Given the description of an element on the screen output the (x, y) to click on. 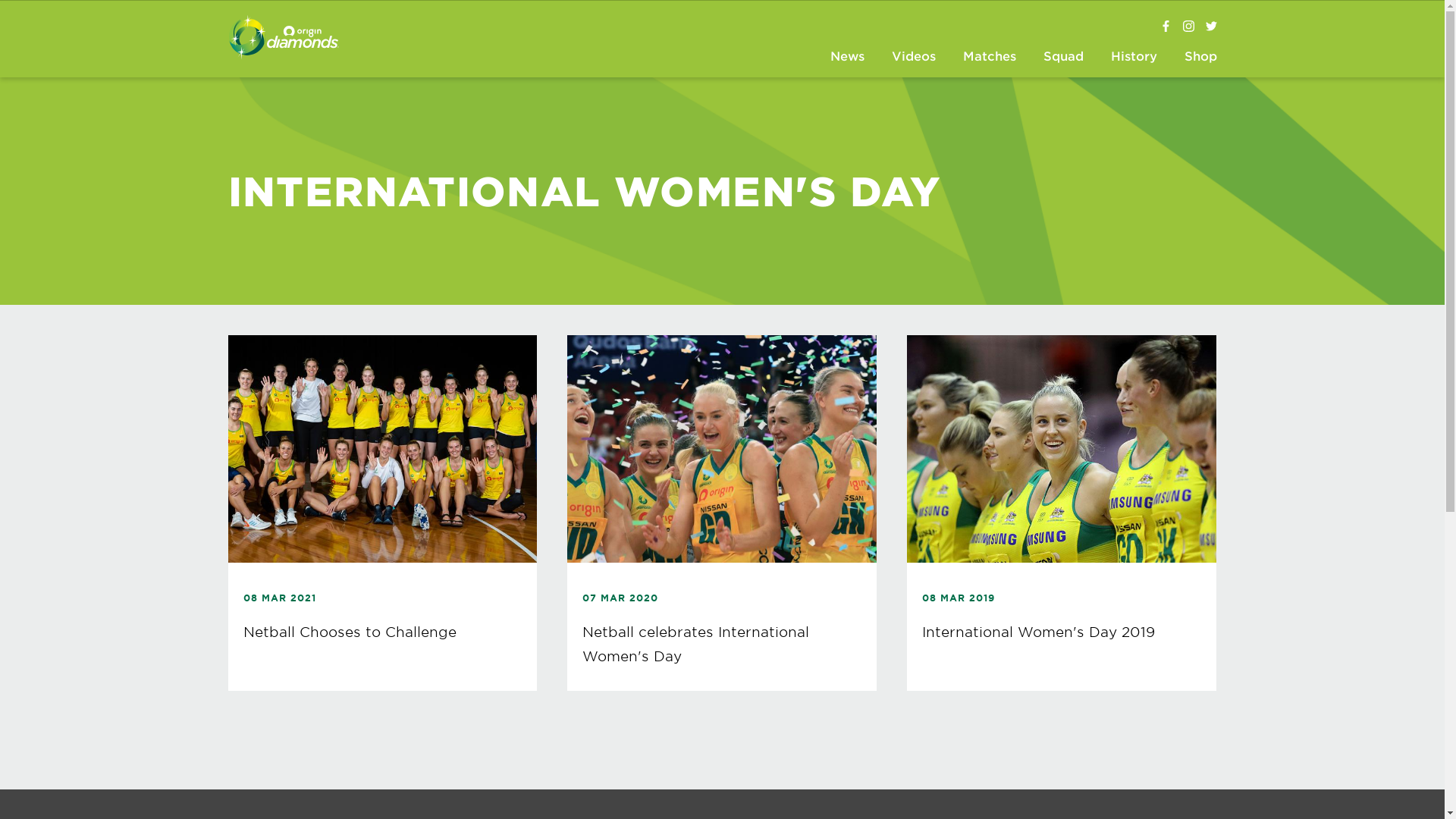
History Element type: text (1133, 57)
08 MAR 2021
Netball Chooses to Challenge Element type: text (382, 512)
@aussiediamonds Element type: hover (1188, 26)
@AussieDiamonds Element type: hover (1211, 26)
News Element type: text (847, 57)
07 MAR 2020
Netball celebrates International Women's Day Element type: text (721, 512)
Matches Element type: text (988, 57)
Squad Element type: text (1062, 57)
Shop Element type: text (1199, 57)
Videos Element type: text (912, 57)
Aussie Diamonds Element type: hover (1165, 26)
08 MAR 2019
International Women's Day 2019 Element type: text (1061, 512)
